Given the description of an element on the screen output the (x, y) to click on. 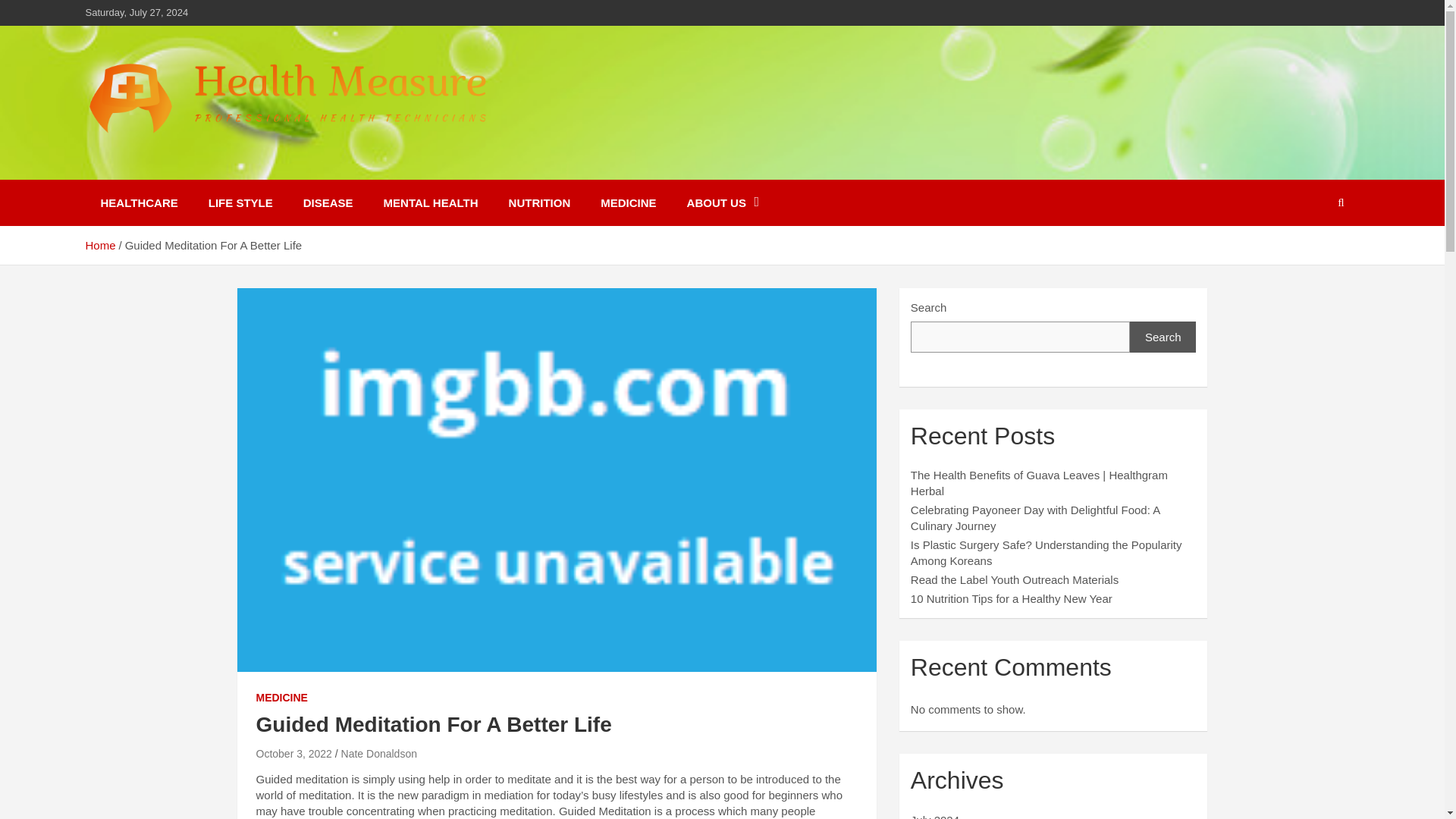
LIFE STYLE (240, 202)
MENTAL HEALTH (430, 202)
Read the Label Youth Outreach Materials (1014, 579)
HEALTHCARE (138, 202)
October 3, 2022 (293, 753)
DISEASE (328, 202)
Home (99, 245)
July 2024 (935, 816)
Guided Meditation For A Better Life (293, 753)
ABOUT US (722, 202)
Nate Donaldson (378, 753)
Health Measure (196, 168)
MEDICINE (628, 202)
Search (1162, 336)
